Given the description of an element on the screen output the (x, y) to click on. 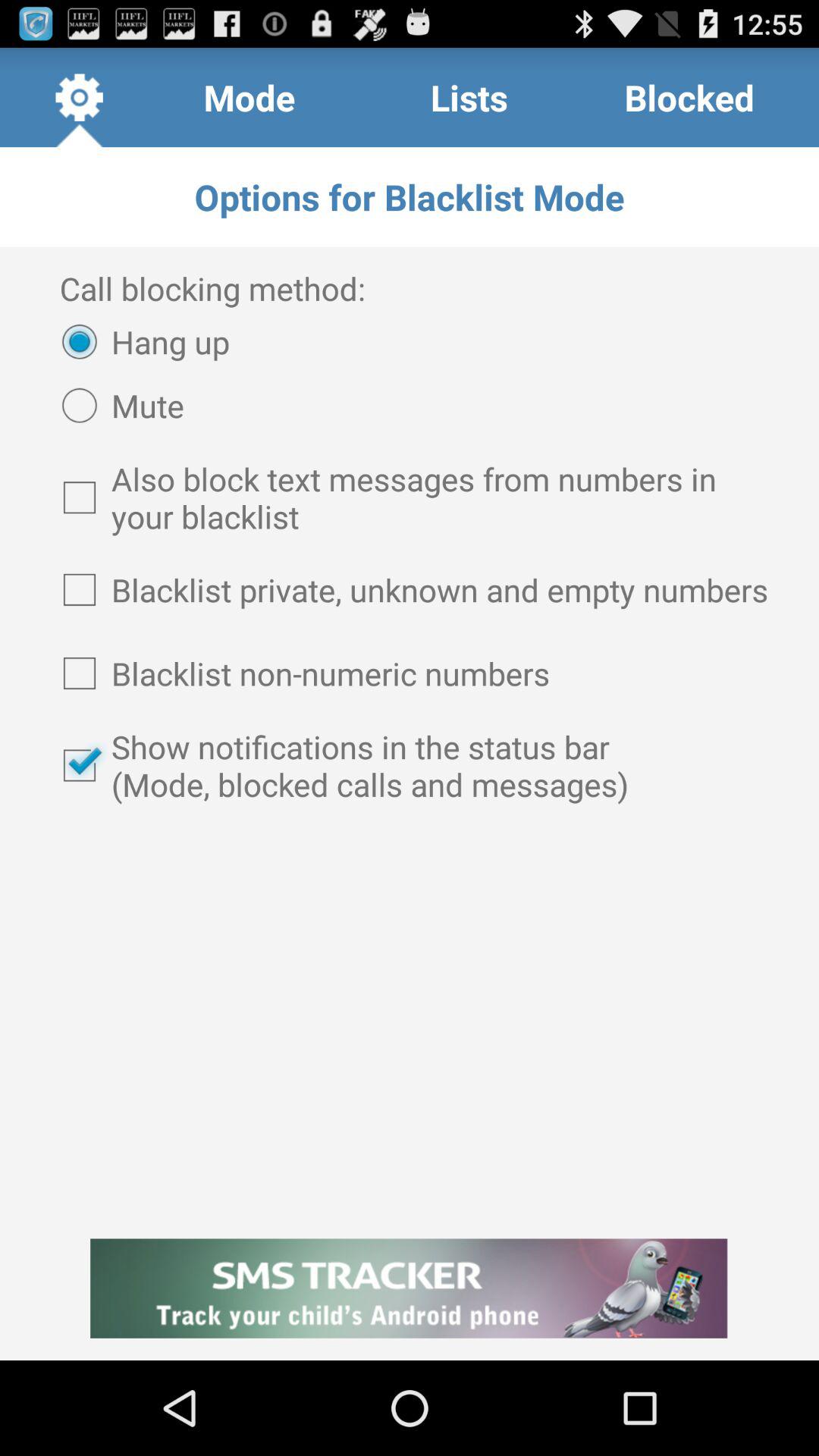
choose the item at the bottom (409, 1288)
